Given the description of an element on the screen output the (x, y) to click on. 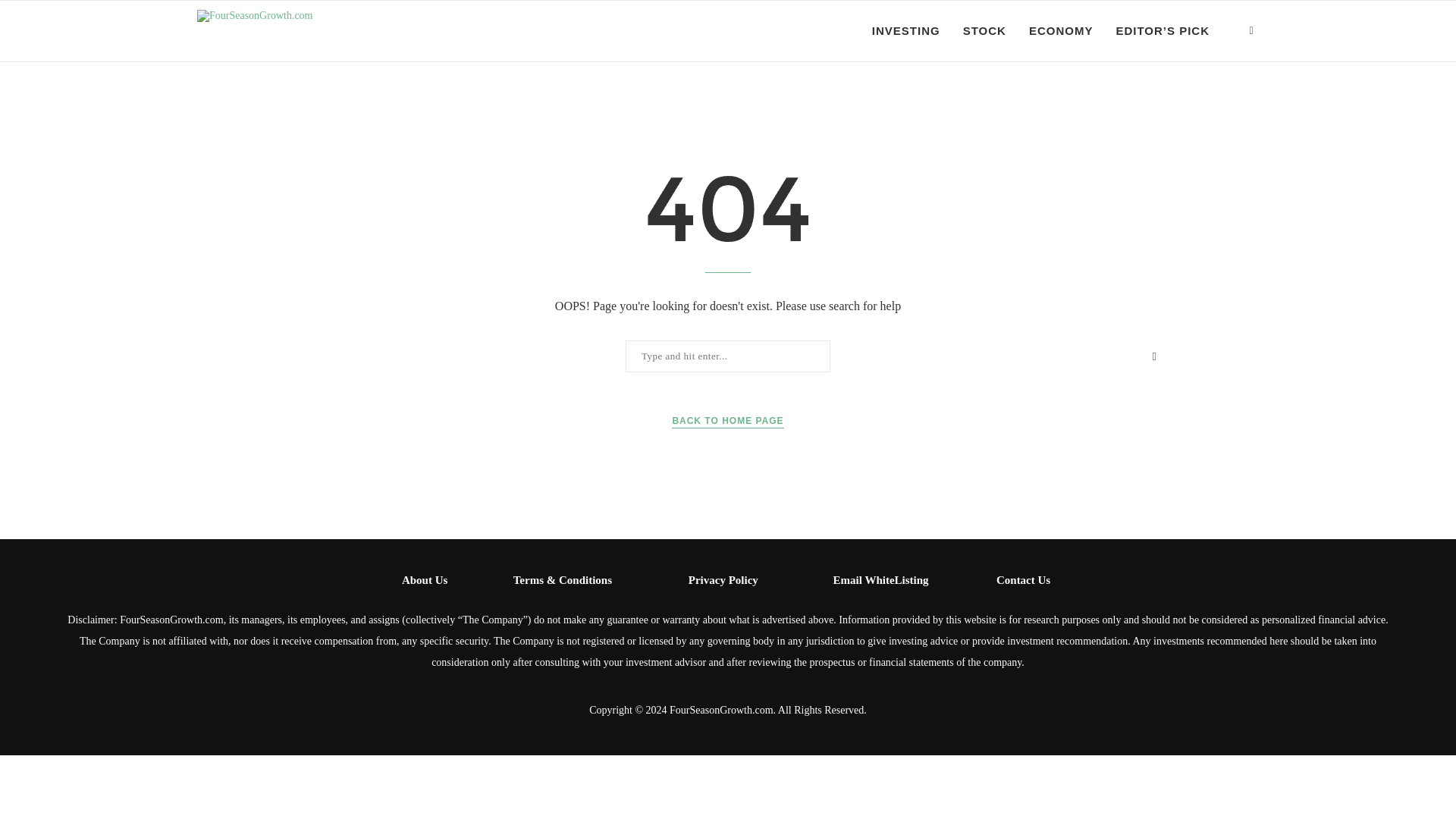
Email WhiteListing (880, 580)
ECONOMY (1061, 30)
About Us (423, 580)
INVESTING (906, 30)
BACK TO HOME PAGE (727, 421)
Contact Us (1022, 580)
Privacy Policy (723, 580)
